Given the description of an element on the screen output the (x, y) to click on. 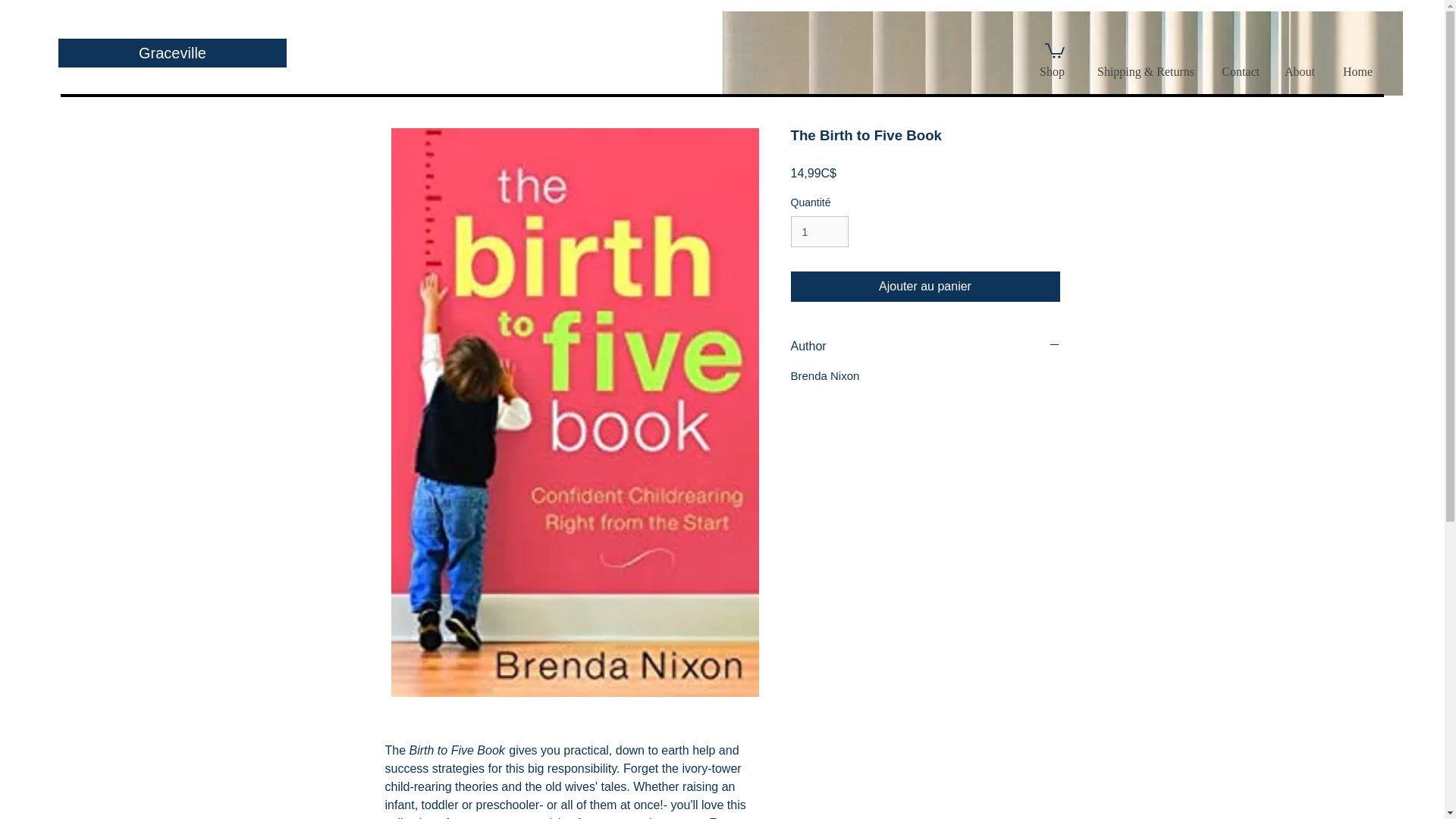
About (1298, 71)
1 (818, 231)
Contact (1238, 71)
Shop (1050, 71)
Ajouter au panier (924, 286)
Home (1355, 71)
Graceville (172, 52)
Author (924, 346)
